Given the description of an element on the screen output the (x, y) to click on. 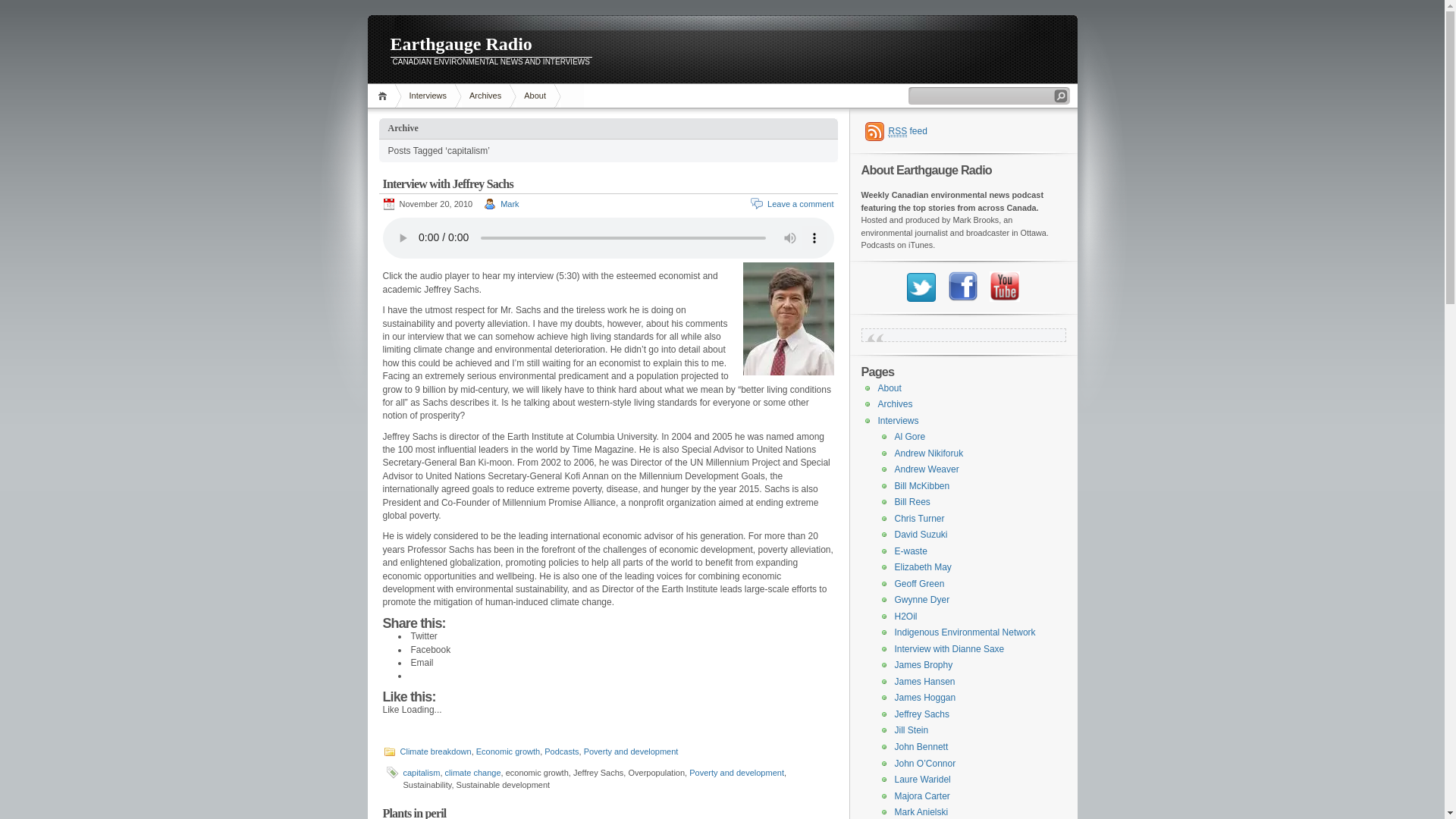
Posts by Mark (509, 203)
Earthgauge Radio (722, 45)
Subscribe to this blog... (896, 130)
Home (383, 95)
Interviews (428, 95)
Really Simple Syndication (897, 131)
Home (383, 95)
